Given the description of an element on the screen output the (x, y) to click on. 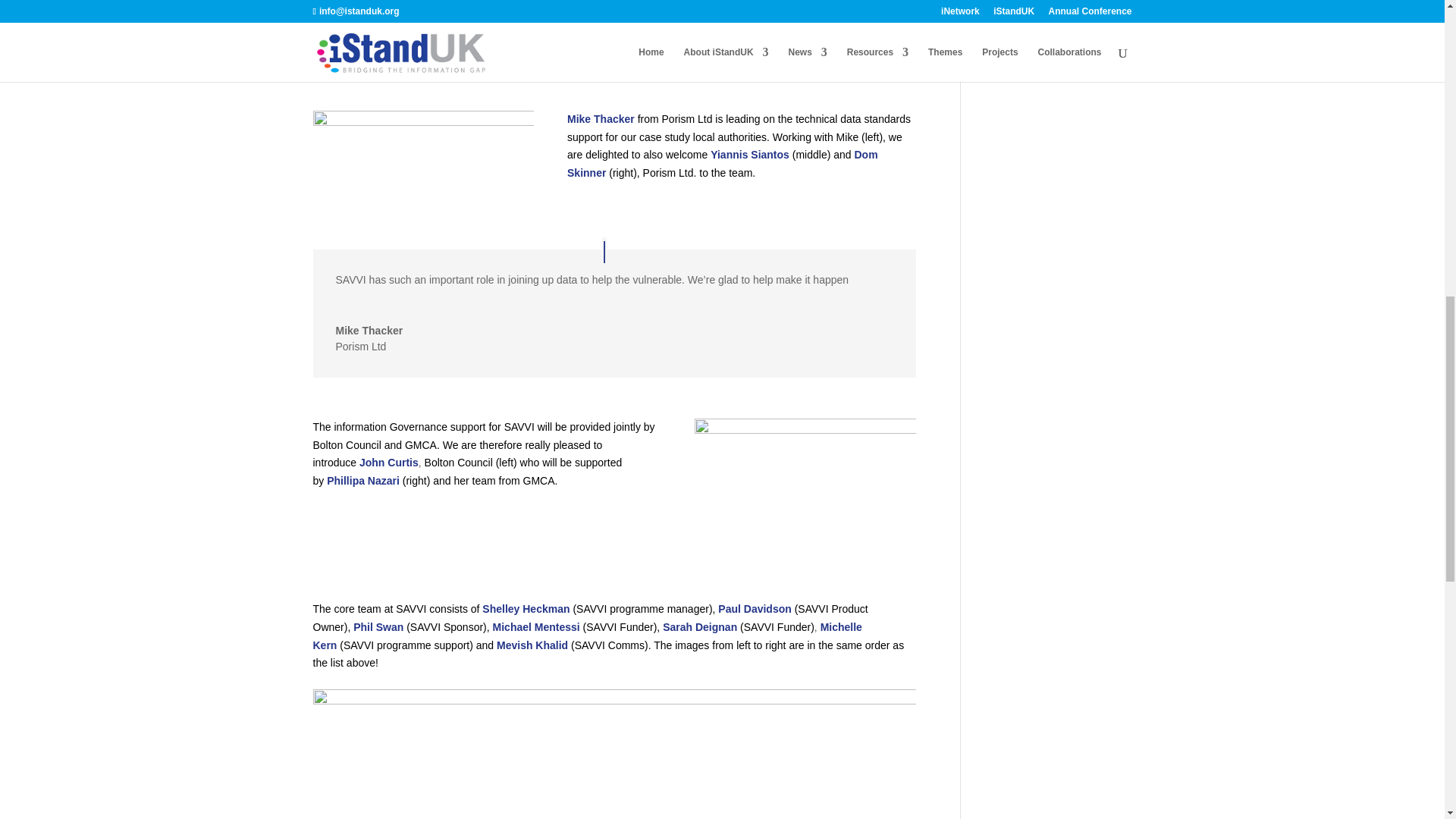
Yiannis Siantos (749, 154)
IG support (804, 488)
Dom Skinner (722, 163)
Sarah Deignan (699, 626)
Phillipa Nazari (362, 480)
Phil Swan (378, 626)
Mike Thacker (600, 119)
Paul Davidson (753, 608)
SAVVI team (614, 729)
Michael Mentessi (536, 626)
